Given the description of an element on the screen output the (x, y) to click on. 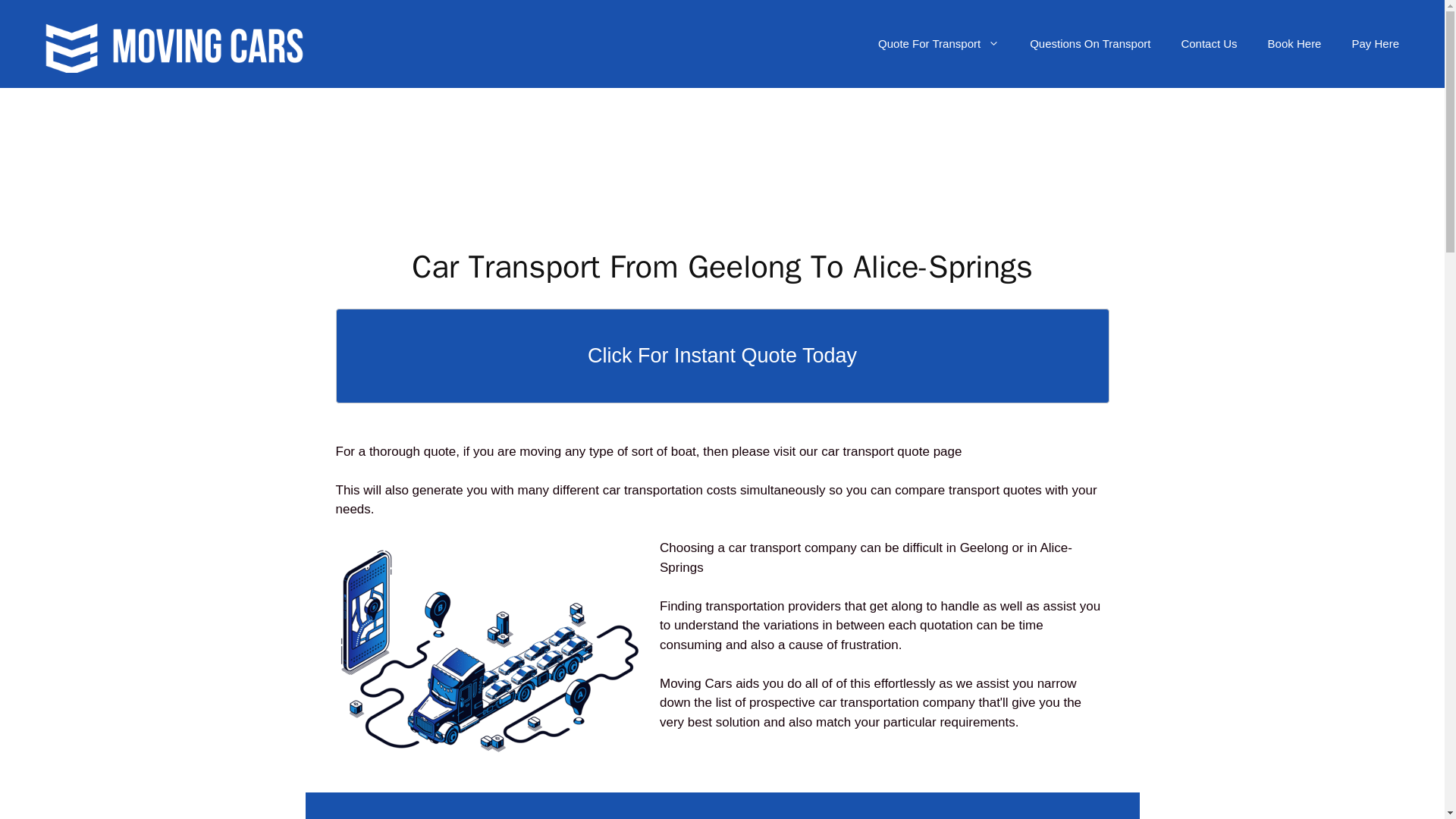
car transport quote (875, 451)
Click For Instant Quote Today (721, 355)
Contact Us (1209, 43)
Questions On Transport (1090, 43)
Pay Here (1374, 43)
Quote For Transport (938, 43)
Book Here (1294, 43)
